Given the description of an element on the screen output the (x, y) to click on. 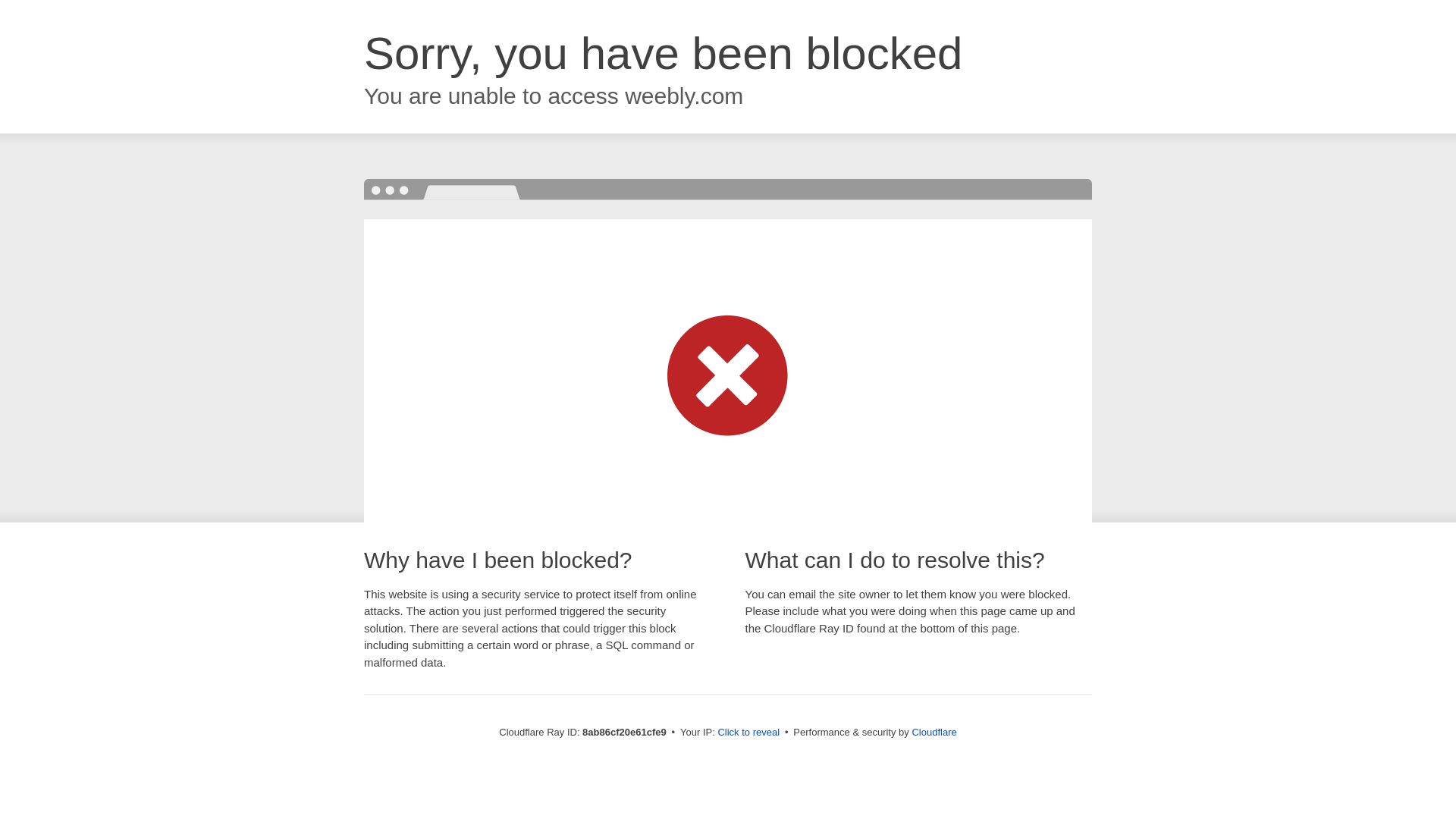
Cloudflare (933, 731)
Click to reveal (747, 732)
